Given the description of an element on the screen output the (x, y) to click on. 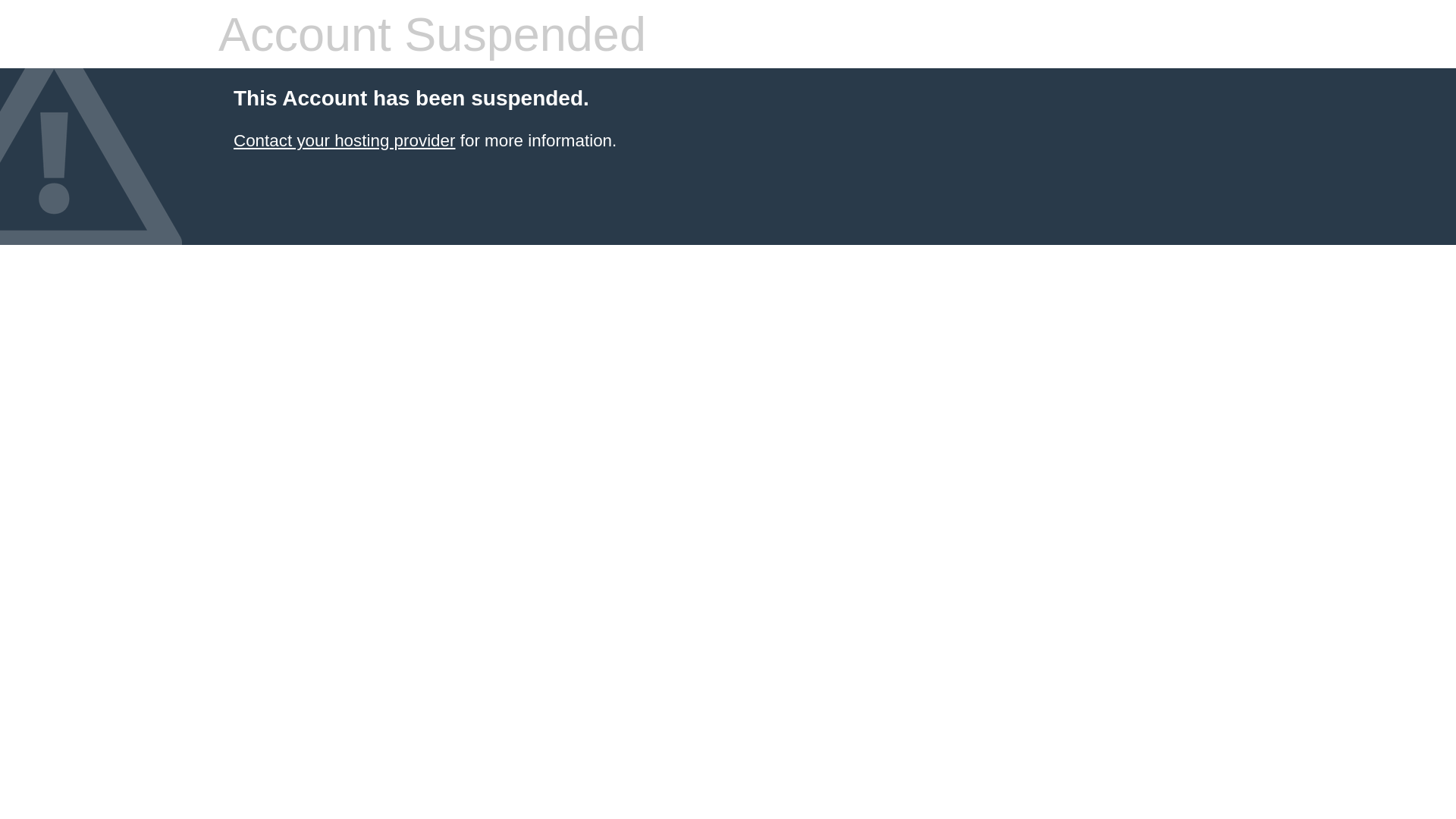
Contact your hosting provider Element type: text (344, 140)
